Given the description of an element on the screen output the (x, y) to click on. 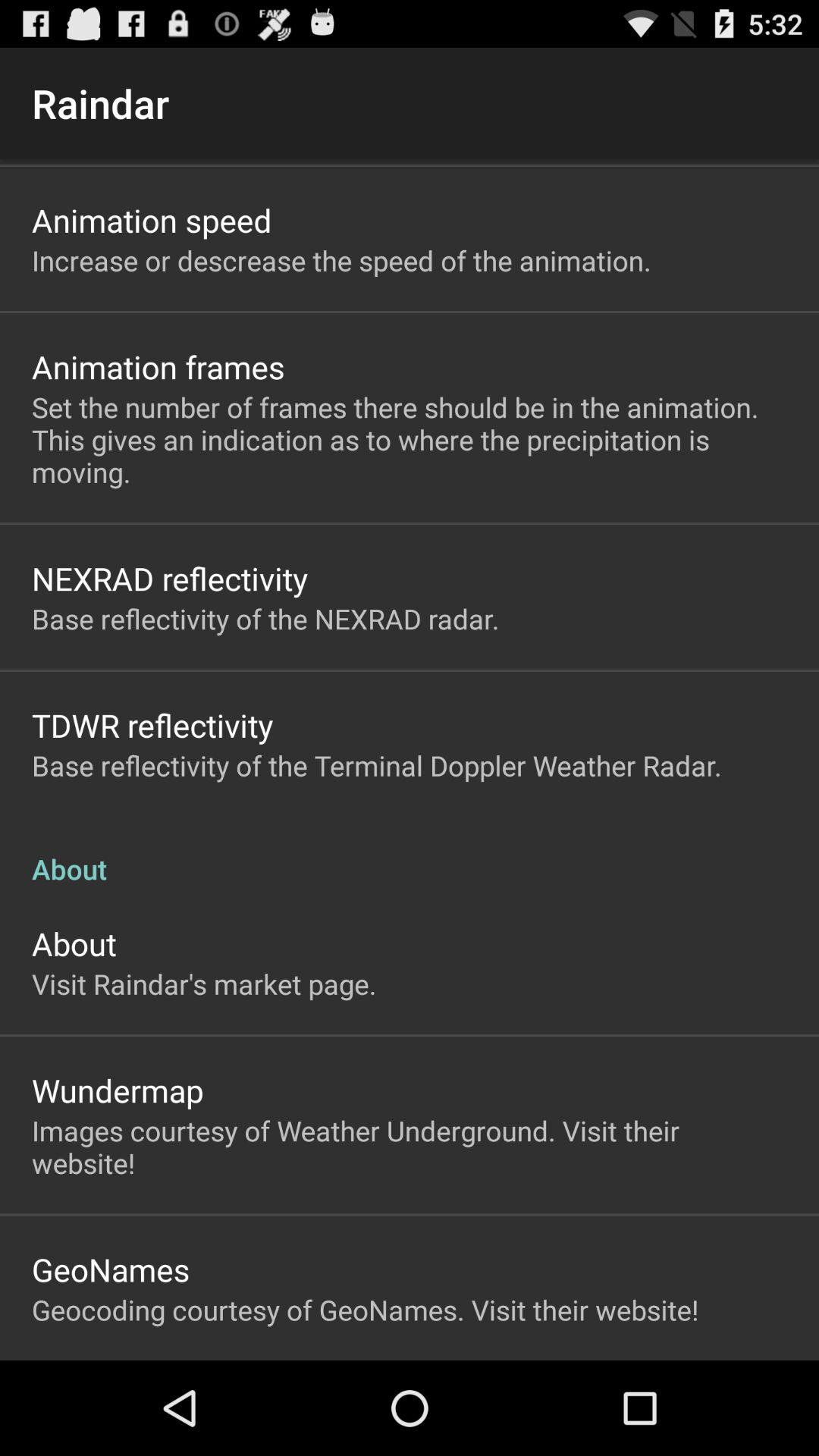
tap icon below the about (203, 983)
